Given the description of an element on the screen output the (x, y) to click on. 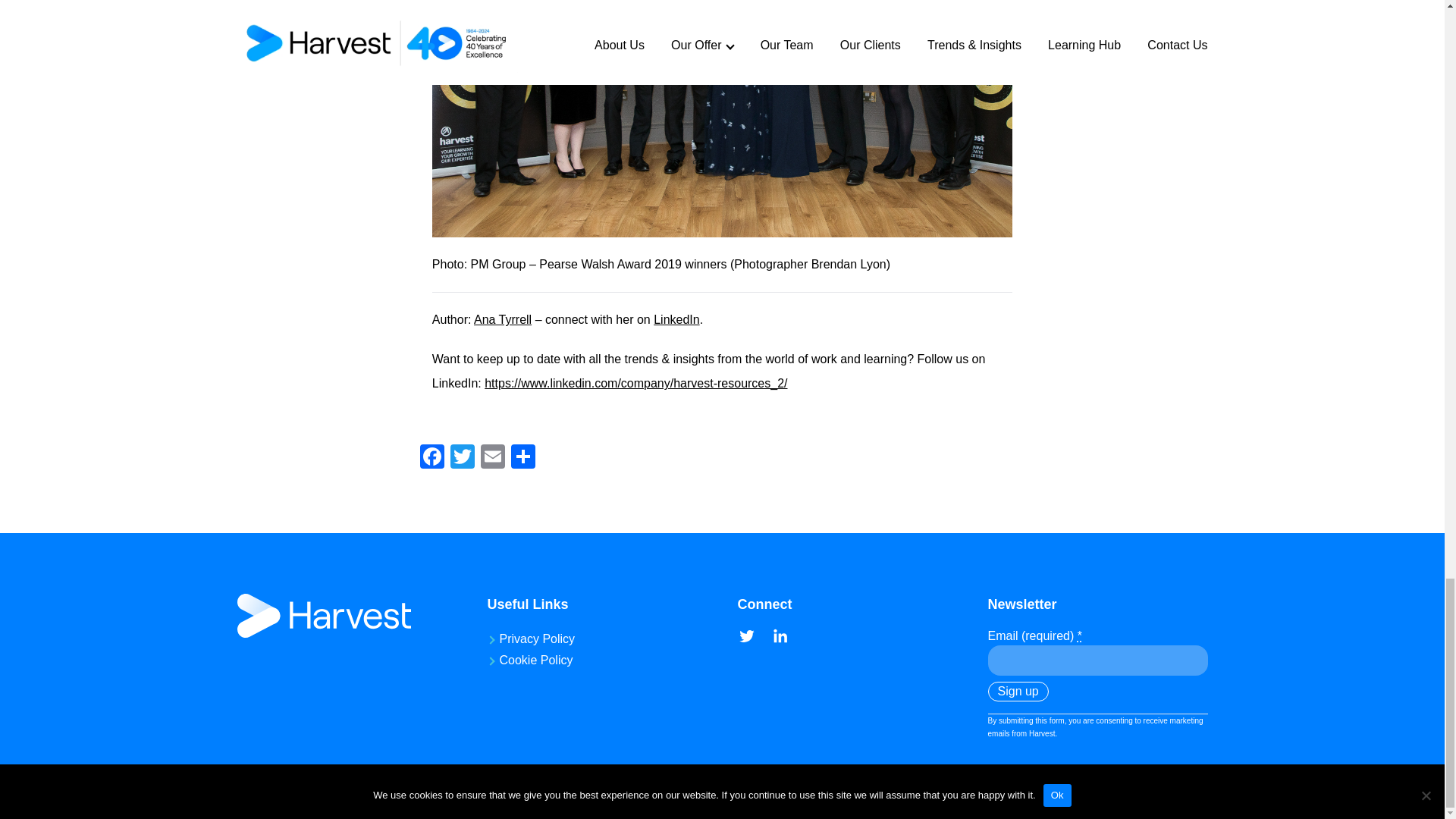
Sign up (1017, 691)
Ana Tyrrell (502, 318)
Twitter (461, 458)
LinkedIn (676, 318)
Email (492, 458)
Privacy Policy (537, 638)
Cookie Policy (535, 659)
Facebook (431, 458)
Sign up (1017, 691)
